Given the description of an element on the screen output the (x, y) to click on. 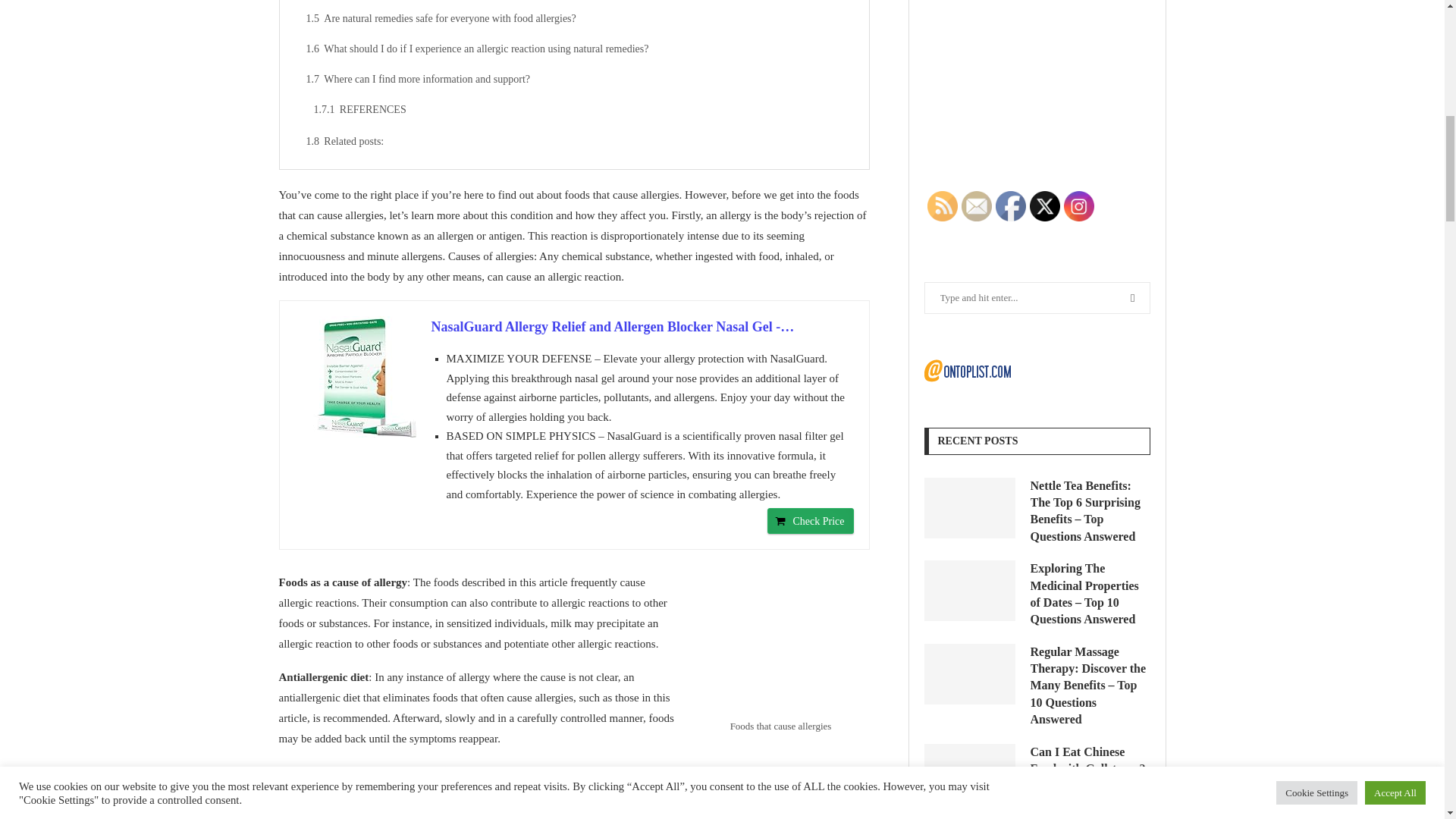
Where can I find more information and support? (577, 79)
REFERENCES (582, 110)
Are natural remedies safe for everyone with food allergies? (577, 19)
Where can I find more information and support? (577, 79)
Are natural remedies safe for everyone with food allergies? (577, 19)
